Given the description of an element on the screen output the (x, y) to click on. 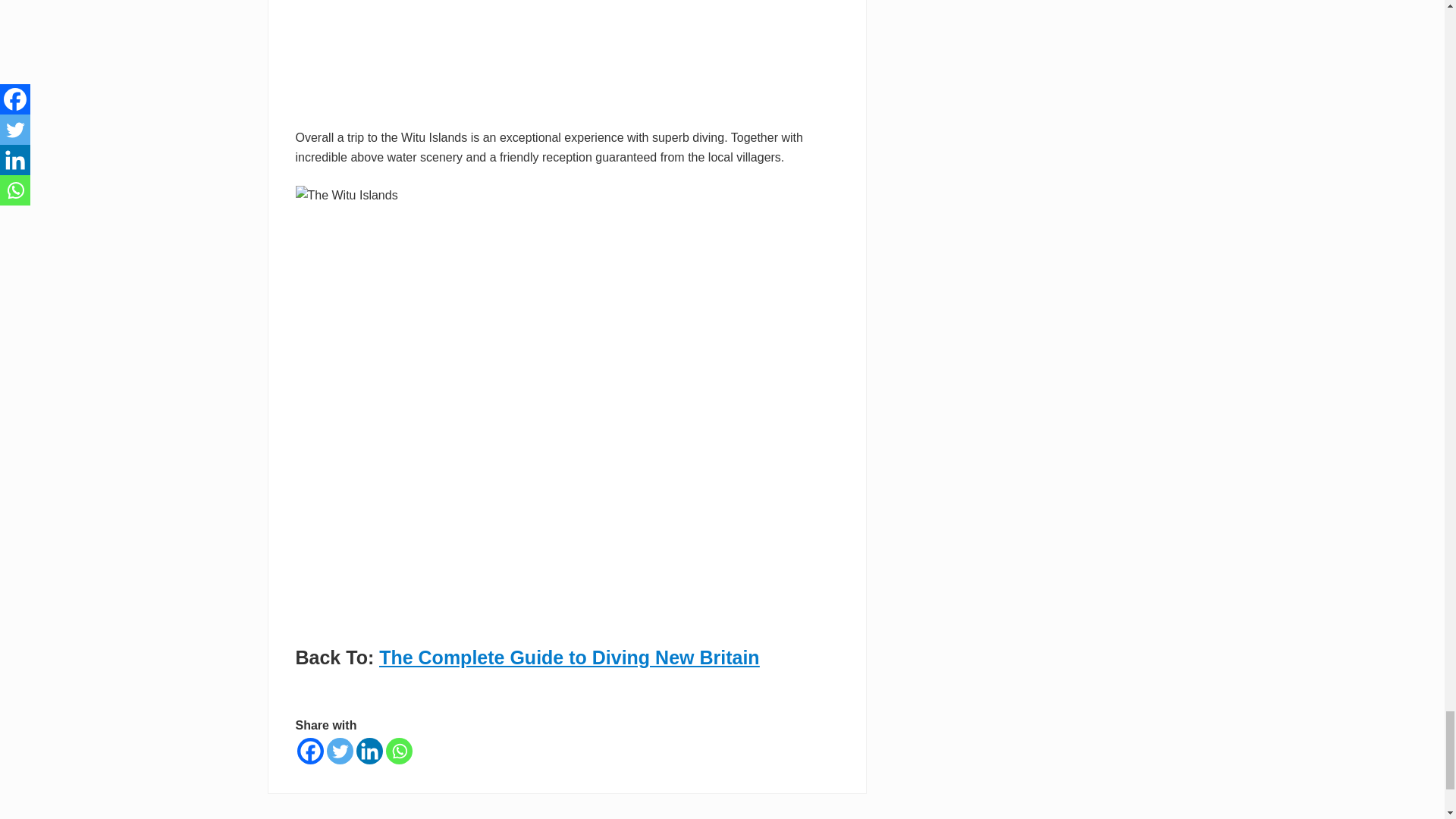
Whatsapp (398, 750)
Facebook (310, 750)
Twitter (339, 750)
Linkedin (369, 750)
